Given the description of an element on the screen output the (x, y) to click on. 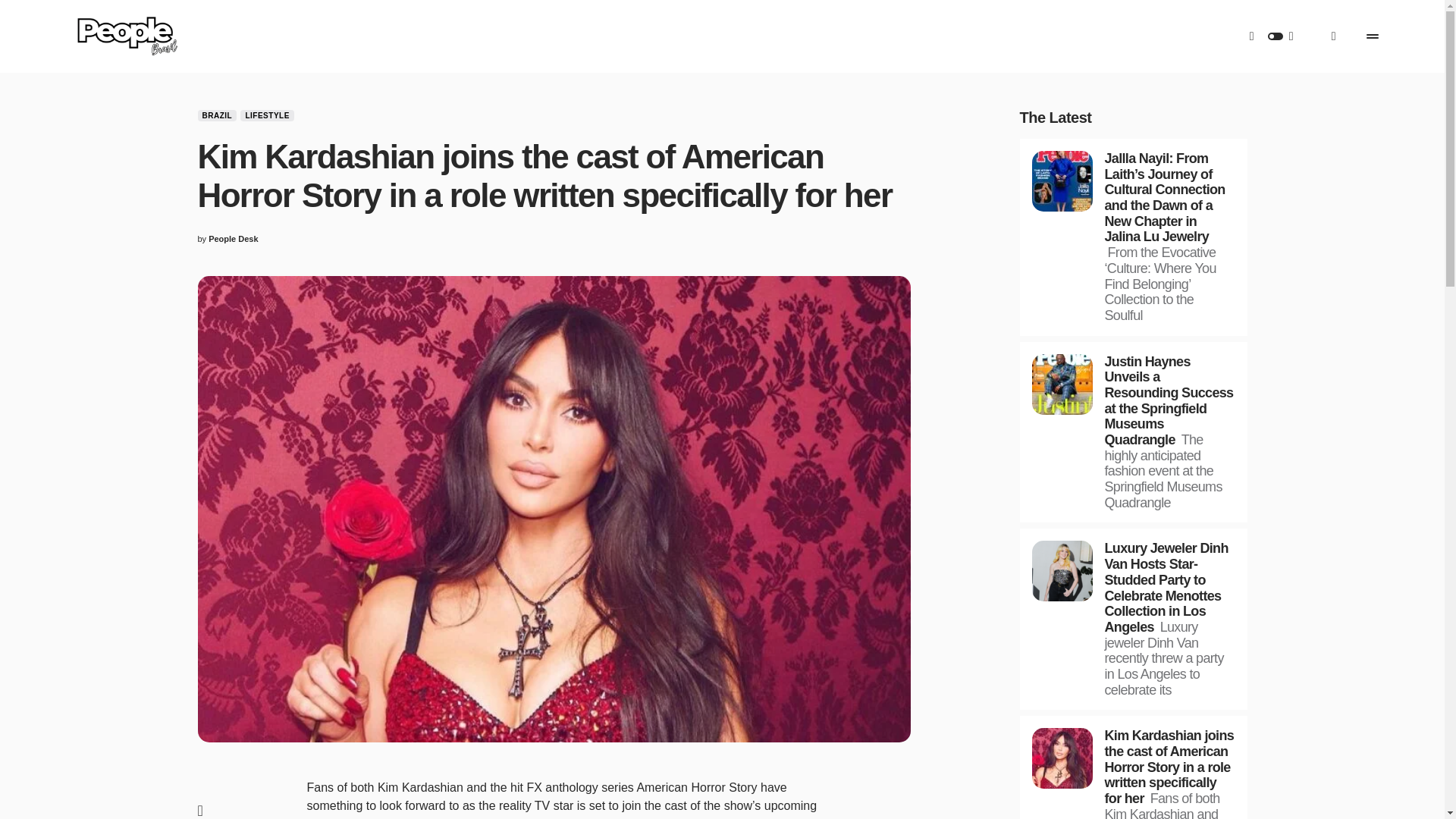
View all posts by People Desk (232, 238)
